Given the description of an element on the screen output the (x, y) to click on. 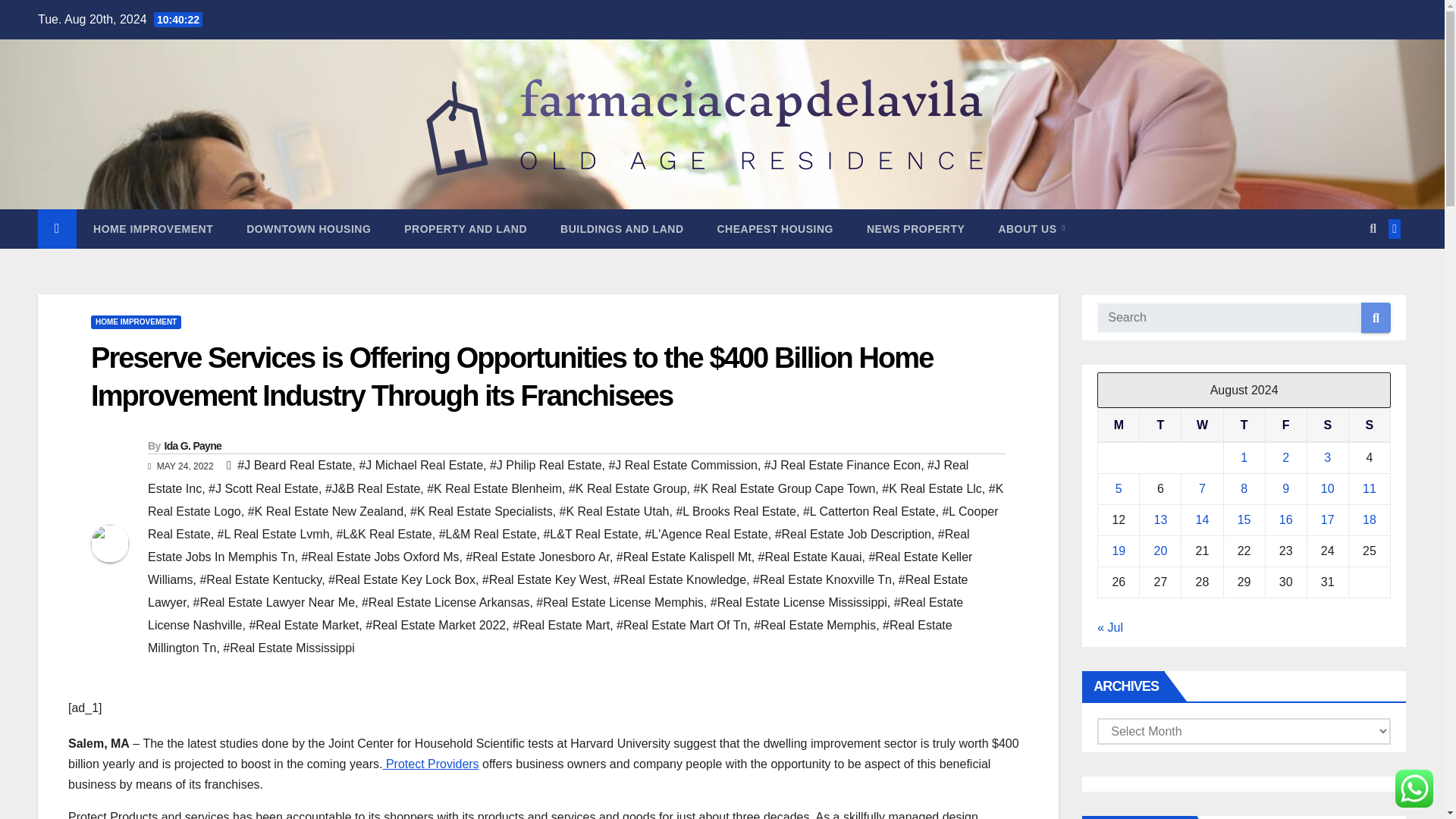
DOWNTOWN HOUSING (308, 228)
downtown housing (308, 228)
About Us (1031, 228)
BUILDINGS AND LAND (621, 228)
HOME IMPROVEMENT (135, 322)
Property and land (465, 228)
cheapest housing (775, 228)
buildings and land (621, 228)
ABOUT US (1031, 228)
NEWS PROPERTY (915, 228)
